Given the description of an element on the screen output the (x, y) to click on. 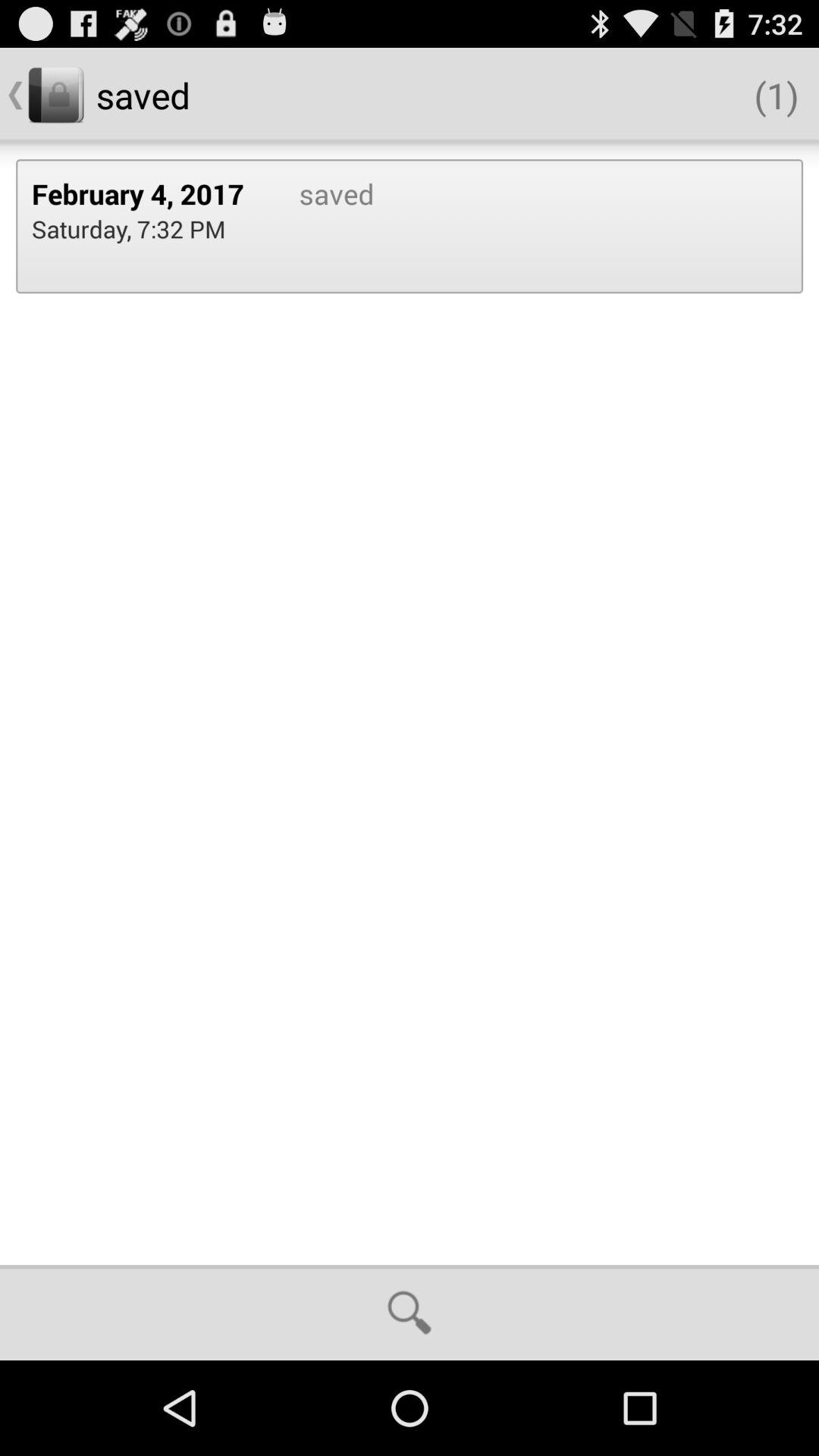
turn on app next to saved (149, 193)
